Given the description of an element on the screen output the (x, y) to click on. 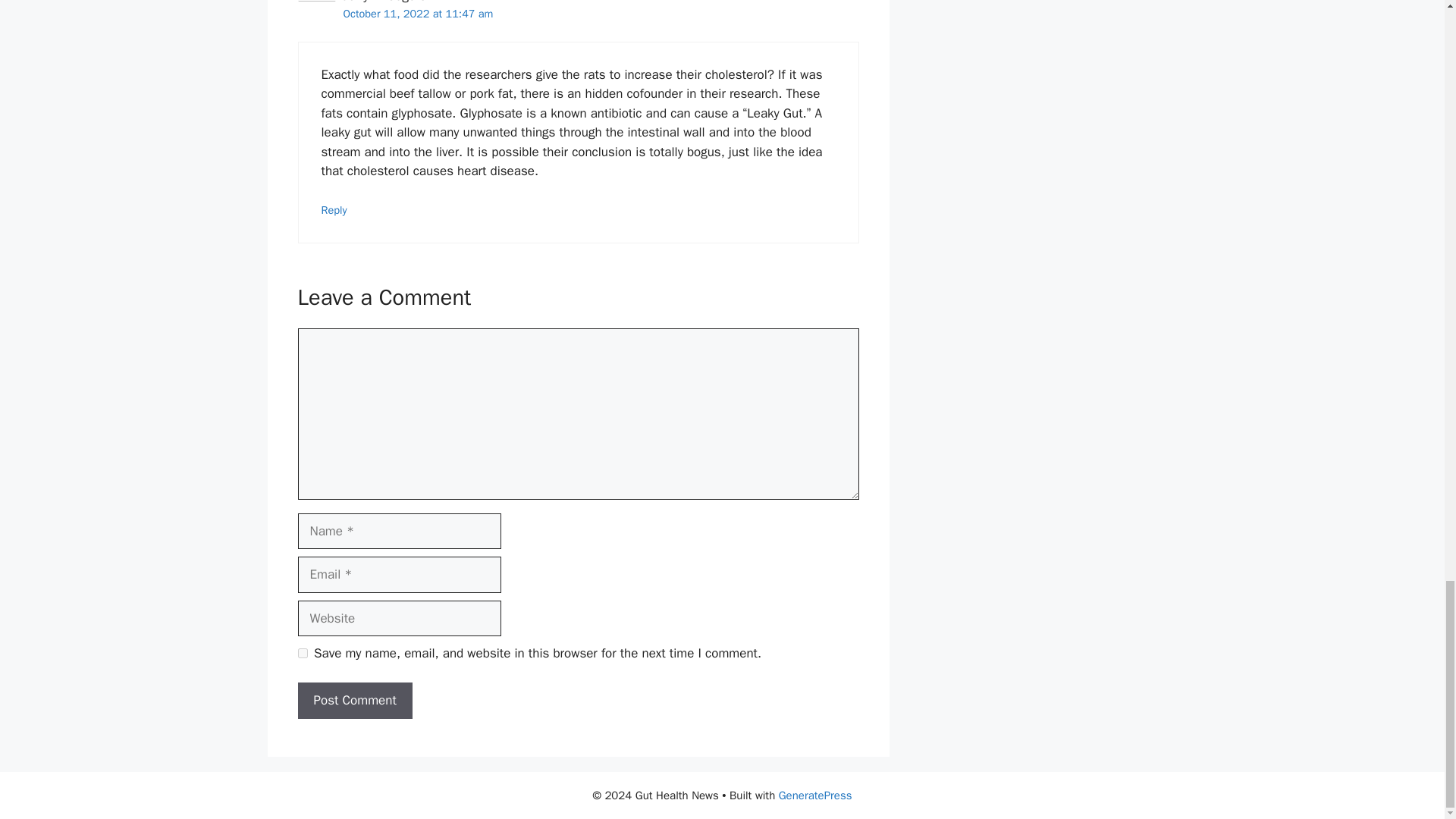
Reply (334, 210)
Post Comment (354, 700)
yes (302, 653)
Post Comment (354, 700)
October 11, 2022 at 11:47 am (417, 13)
